Given the description of an element on the screen output the (x, y) to click on. 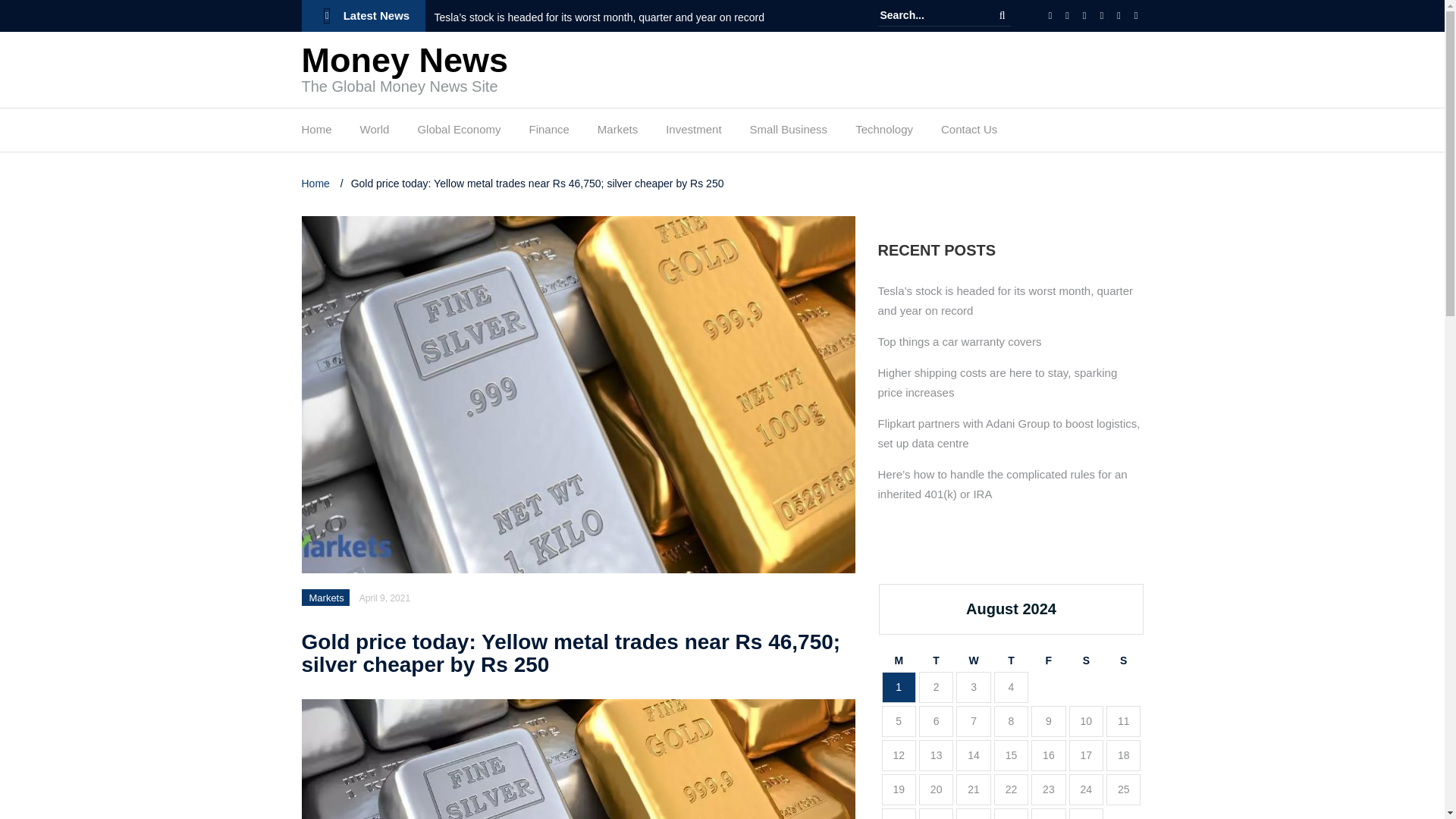
Small Business (788, 133)
Global Economy (458, 133)
Friday (1047, 660)
Markets (616, 133)
Markets (325, 597)
Home (316, 133)
Investment (692, 133)
Contact Us (968, 133)
Finance (548, 133)
Tuesday (935, 660)
Monday (897, 660)
Saturday (1085, 660)
Sunday (1123, 660)
World (374, 133)
Home (317, 183)
